Given the description of an element on the screen output the (x, y) to click on. 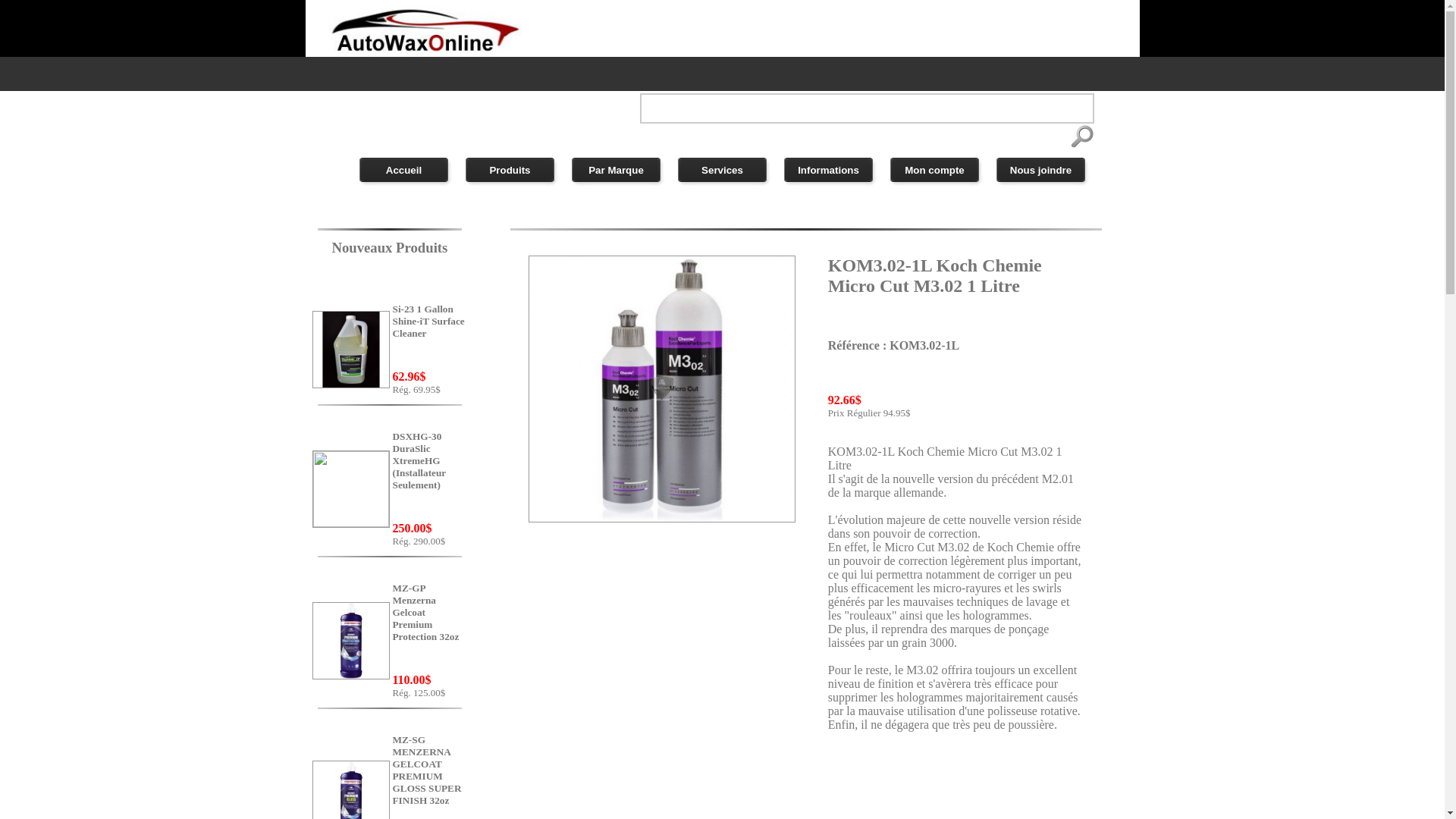
MZ-GP Menzerna Gelcoat Premium Protection 32oz Element type: text (429, 627)
Si-23 1 Gallon Shine-iT Surface Cleaner Element type: text (429, 336)
Informations Element type: text (828, 170)
Par Marque Element type: text (615, 170)
KOM3.02-1L Koch Chemie Micro Cut M3.02 1 Litre Element type: hover (661, 517)
Mon compte Element type: text (934, 170)
Produits Element type: text (509, 170)
DSXHG-30 DuraSlic XtremeHG (Installateur Seulement) Element type: text (429, 475)
Services Element type: text (721, 170)
Accueil Element type: text (403, 170)
Nous joindre Element type: text (1040, 170)
